Given the description of an element on the screen output the (x, y) to click on. 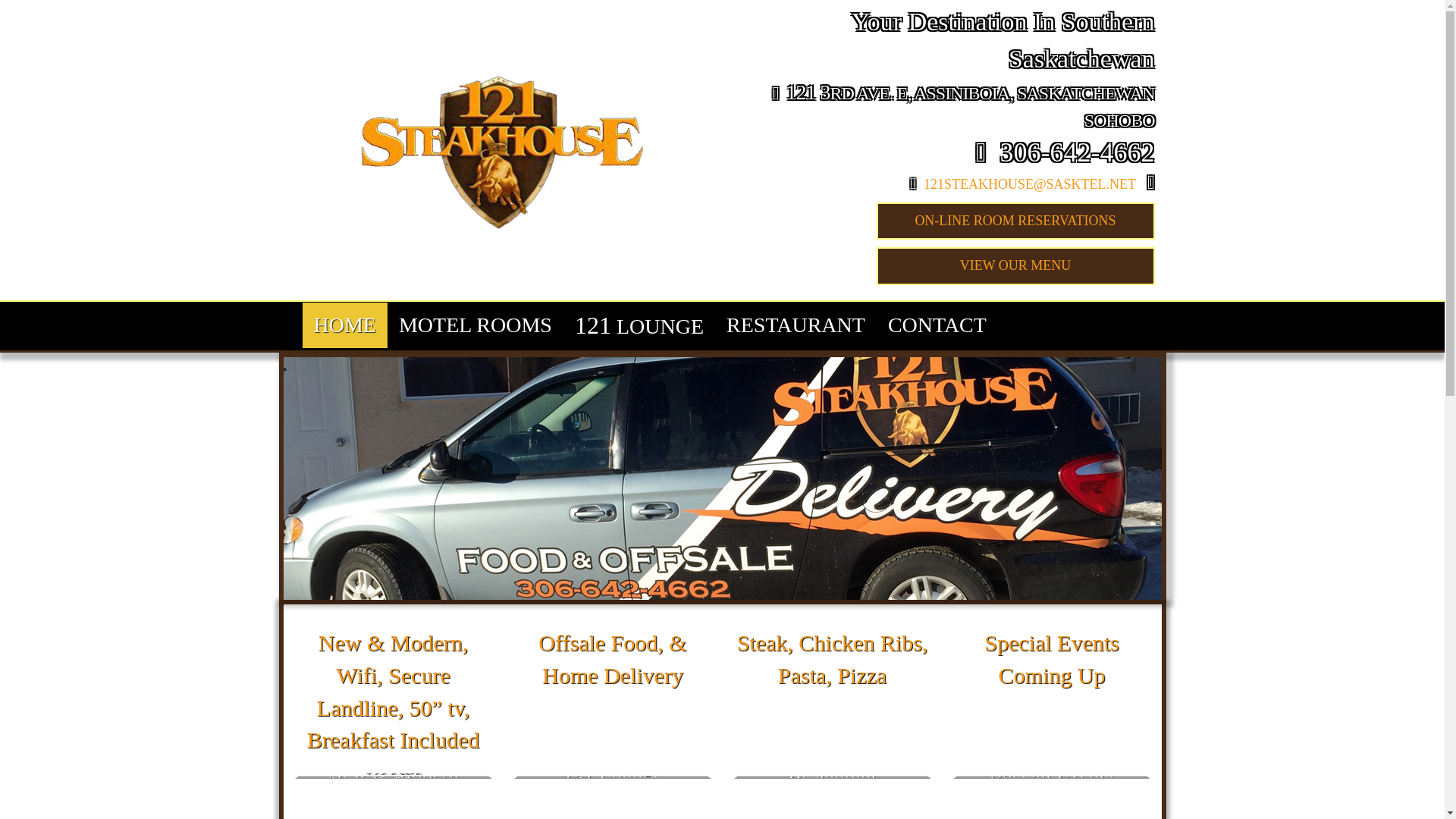
New & Modern Rooms Element type: text (392, 702)
121 Lounge Element type: text (612, 702)
121 LOUNGE Element type: text (639, 325)
Special Events Element type: text (1051, 702)
ON-LINE ROOM RESERVATIONS Element type: text (1015, 221)
121STEAKHOUSE@SASKTEL.NET Element type: text (1029, 183)
HOME Element type: text (343, 325)
MOTEL ROOMS Element type: text (475, 325)
CONTACT Element type: text (936, 325)
Restaurant Element type: text (832, 702)
RESTAURANT Element type: text (795, 325)
VIEW OUR MENU Element type: text (1015, 266)
